Given the description of an element on the screen output the (x, y) to click on. 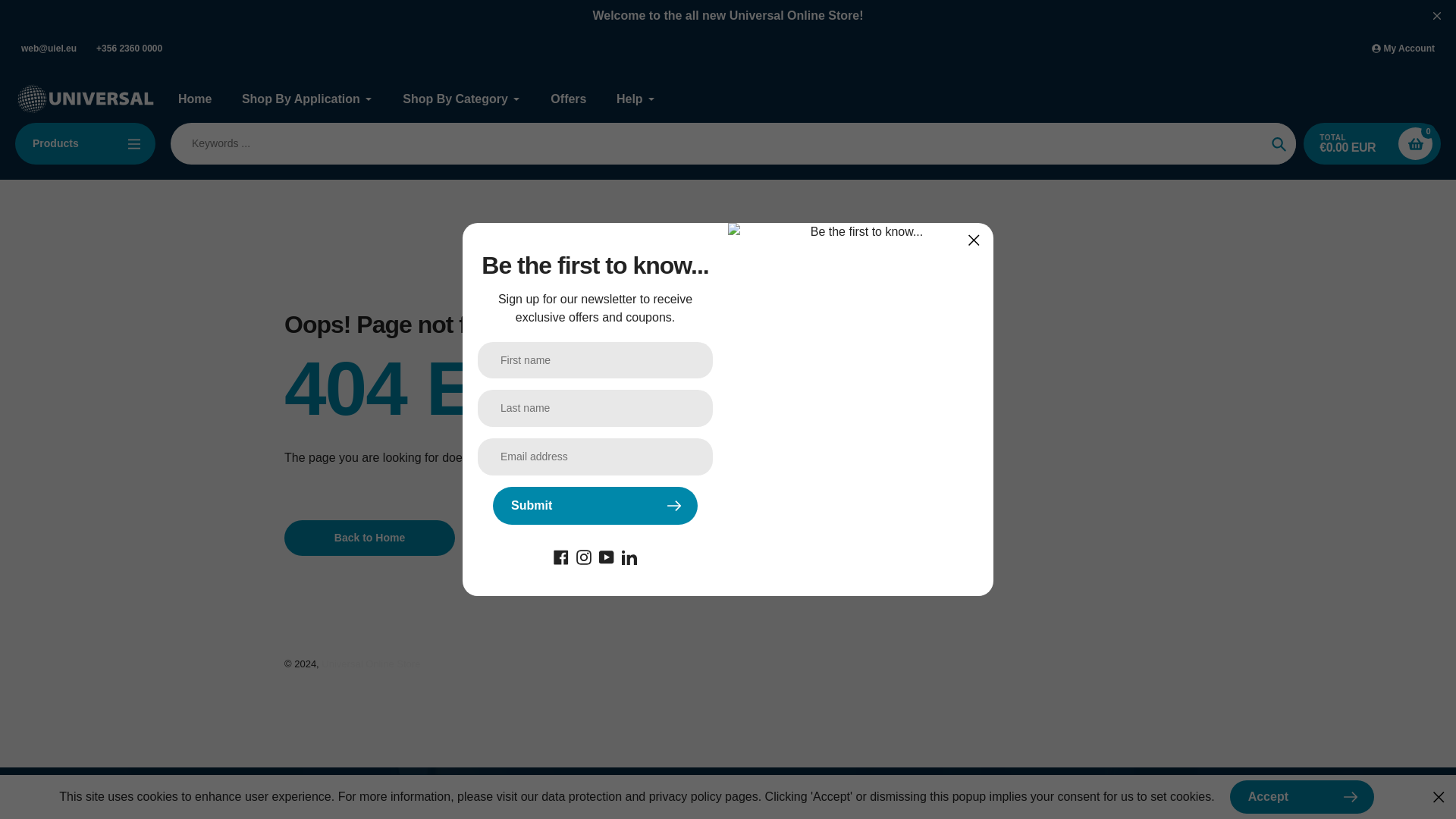
Twitter (629, 555)
Products (84, 143)
Facebook (561, 555)
Shop By Category (462, 99)
Instagram (583, 555)
Shop By Application (306, 99)
Help (635, 99)
Home (194, 99)
YouTube (606, 555)
My Account (1403, 48)
Offers (568, 99)
